Given the description of an element on the screen output the (x, y) to click on. 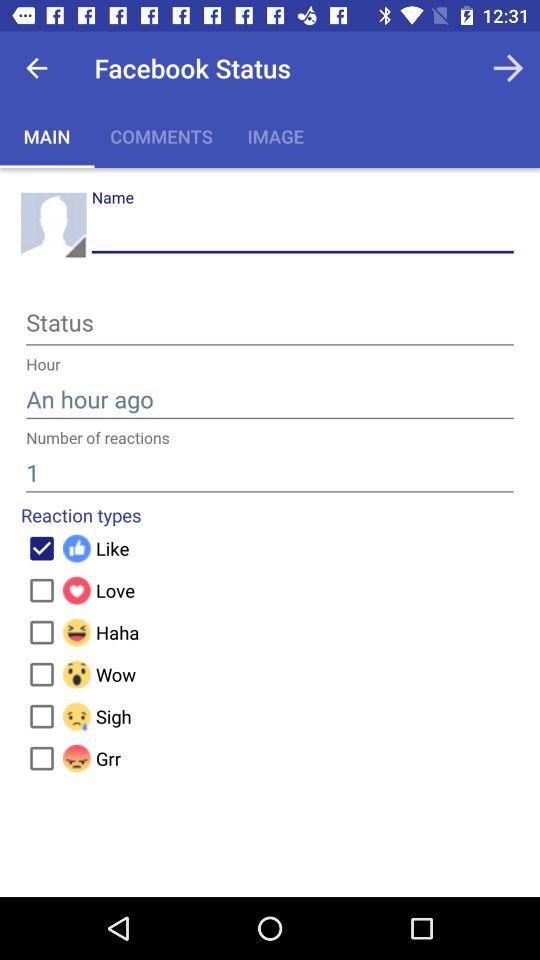
type status (270, 325)
